Given the description of an element on the screen output the (x, y) to click on. 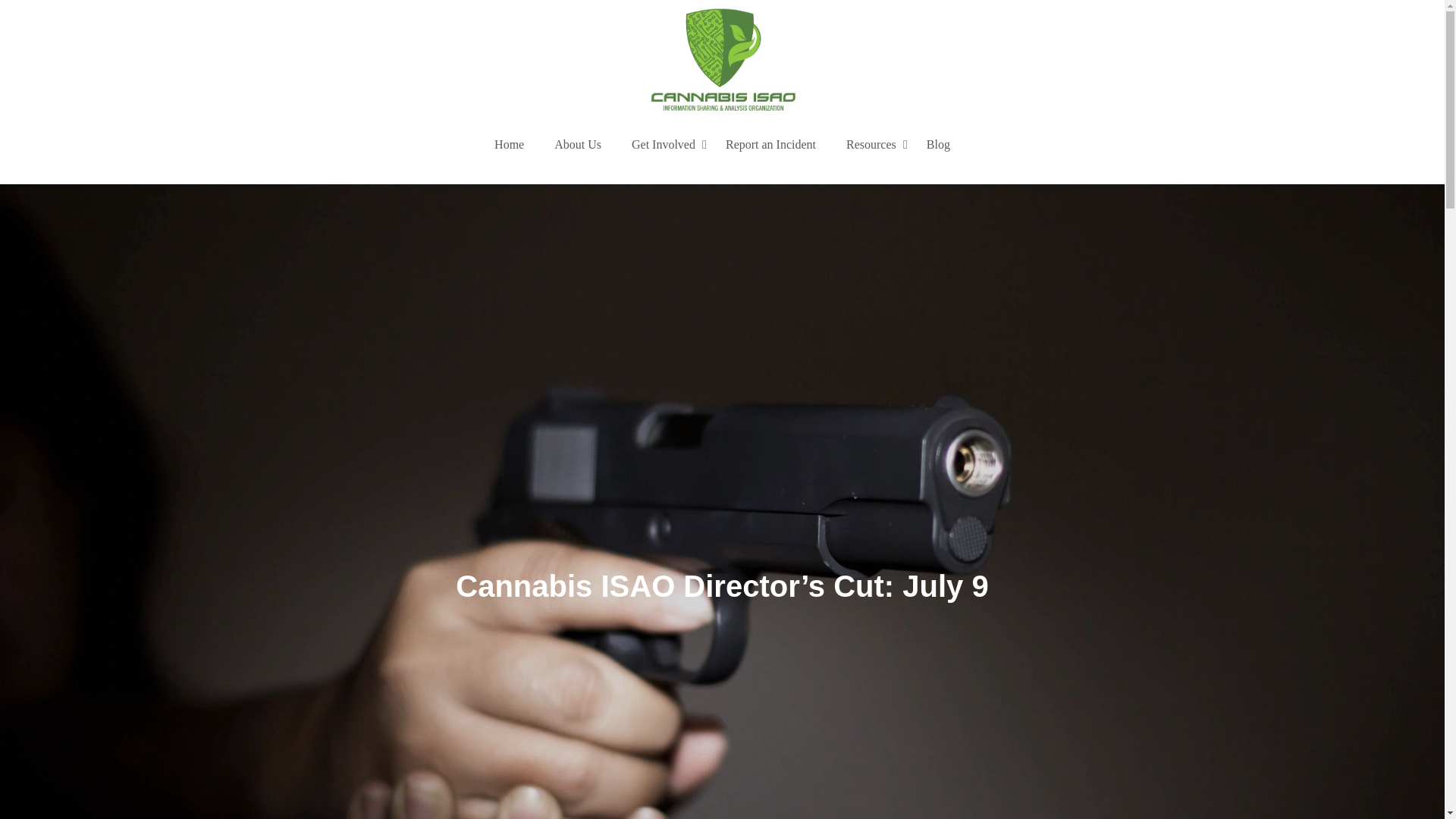
Home (509, 144)
Get Involved (663, 144)
Blog (938, 144)
About Us (577, 144)
Report an Incident (770, 144)
Cannabis ISAO (383, 129)
Resources (870, 144)
